Given the description of an element on the screen output the (x, y) to click on. 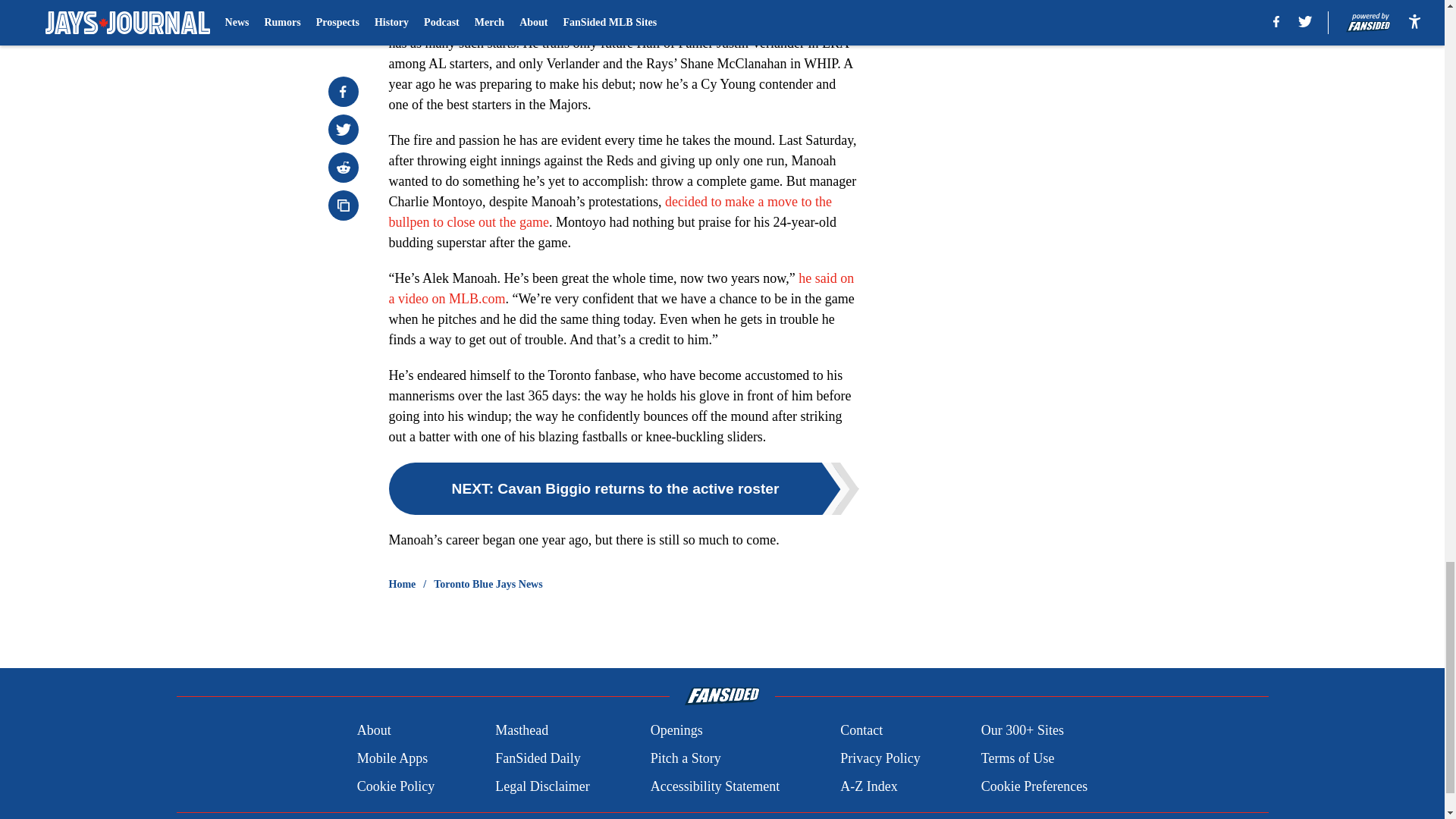
Pitch a Story (685, 758)
Toronto Blue Jays News (488, 584)
Contact (861, 730)
Terms of Use (1017, 758)
Privacy Policy (880, 758)
decided to make a move to the bullpen to close out the game (609, 212)
Home (401, 584)
Openings (676, 730)
Mobile Apps (392, 758)
Masthead (521, 730)
About (373, 730)
NEXT: Cavan Biggio returns to the active roster (623, 488)
he said on a video on MLB.com (620, 288)
FanSided Daily (537, 758)
